Given the description of an element on the screen output the (x, y) to click on. 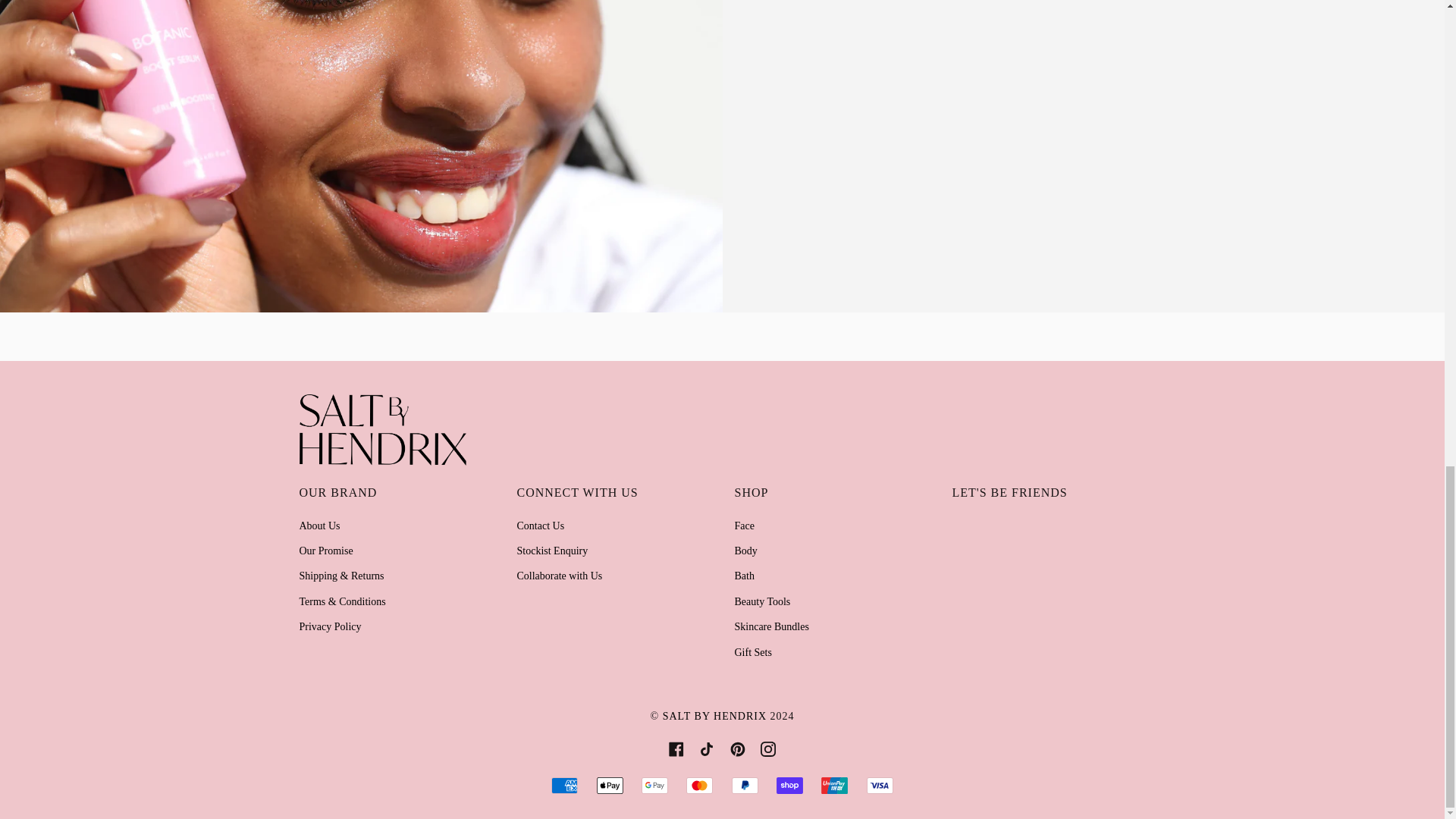
PAYPAL (745, 785)
VISA (879, 785)
Tiktok (706, 747)
Pinterest (737, 747)
SHOP PAY (789, 785)
MASTERCARD (699, 785)
AMERICAN EXPRESS (564, 785)
Instagram (768, 747)
GOOGLE PAY (655, 785)
Facebook (676, 747)
APPLE PAY (609, 785)
UNION PAY (834, 785)
